Given the description of an element on the screen output the (x, y) to click on. 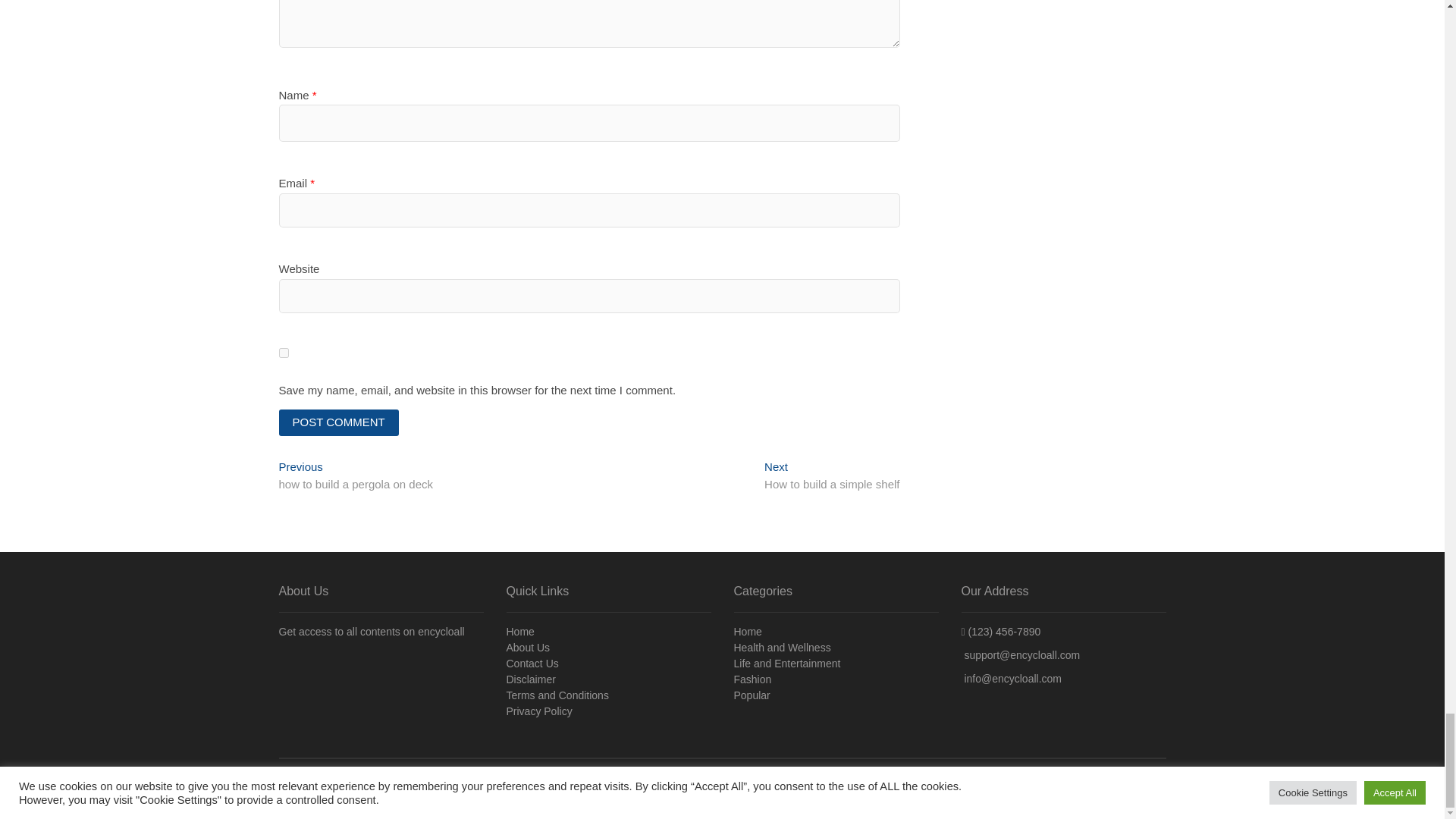
Post Comment (338, 422)
Post Comment (355, 476)
yes (338, 422)
